Given the description of an element on the screen output the (x, y) to click on. 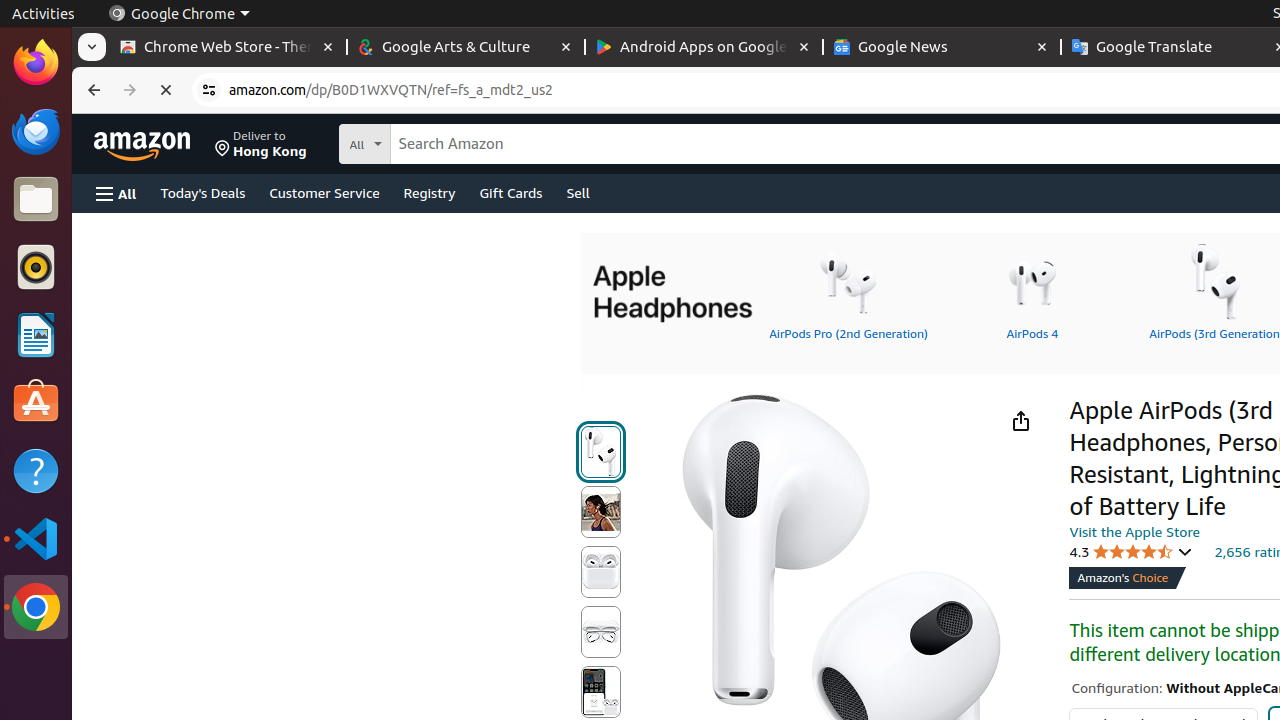
Firefox Web Browser Element type: push-button (36, 63)
LibreOffice Writer Element type: push-button (36, 334)
